Given the description of an element on the screen output the (x, y) to click on. 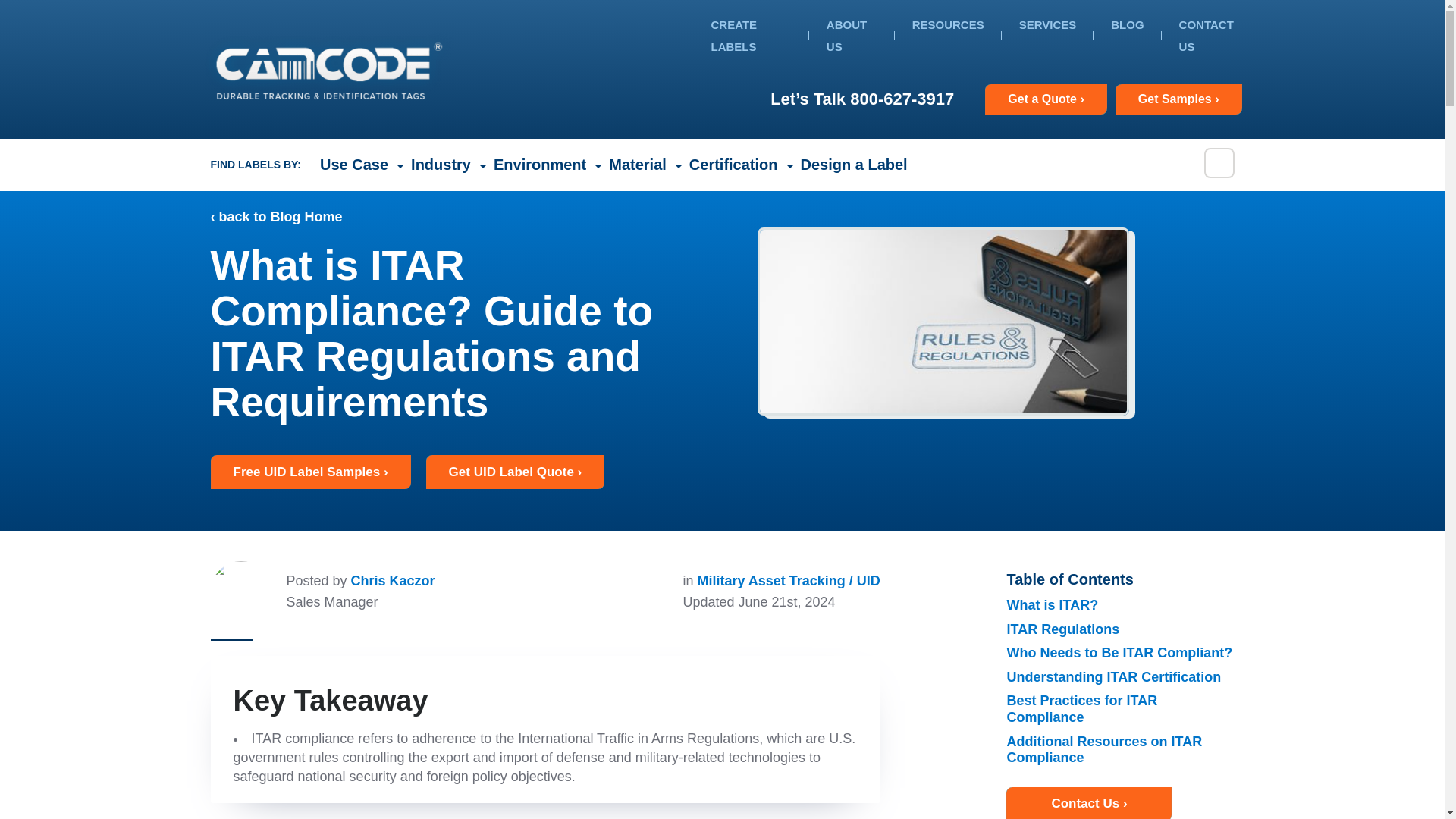
CREATE LABELS (734, 36)
RESOURCES (948, 25)
SERVICES (1048, 25)
ABOUT US (846, 36)
Use Case (358, 164)
BLOG (1126, 25)
CONTACT US (1206, 36)
FIND LABELS BY: (256, 164)
